Given the description of an element on the screen output the (x, y) to click on. 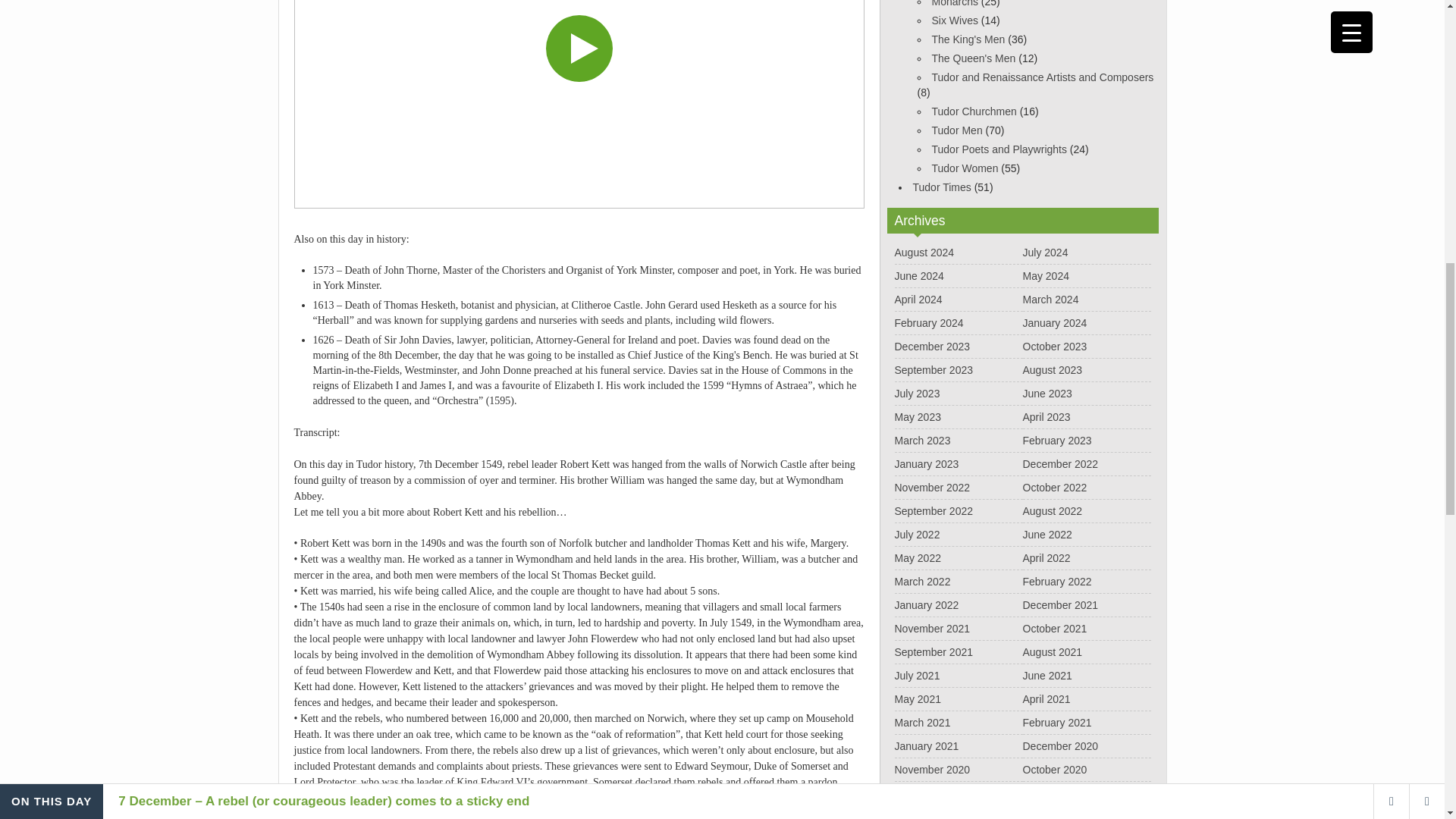
December 7 - Lord Darnley, husband of Mary, Queen of Scots (579, 104)
